Given the description of an element on the screen output the (x, y) to click on. 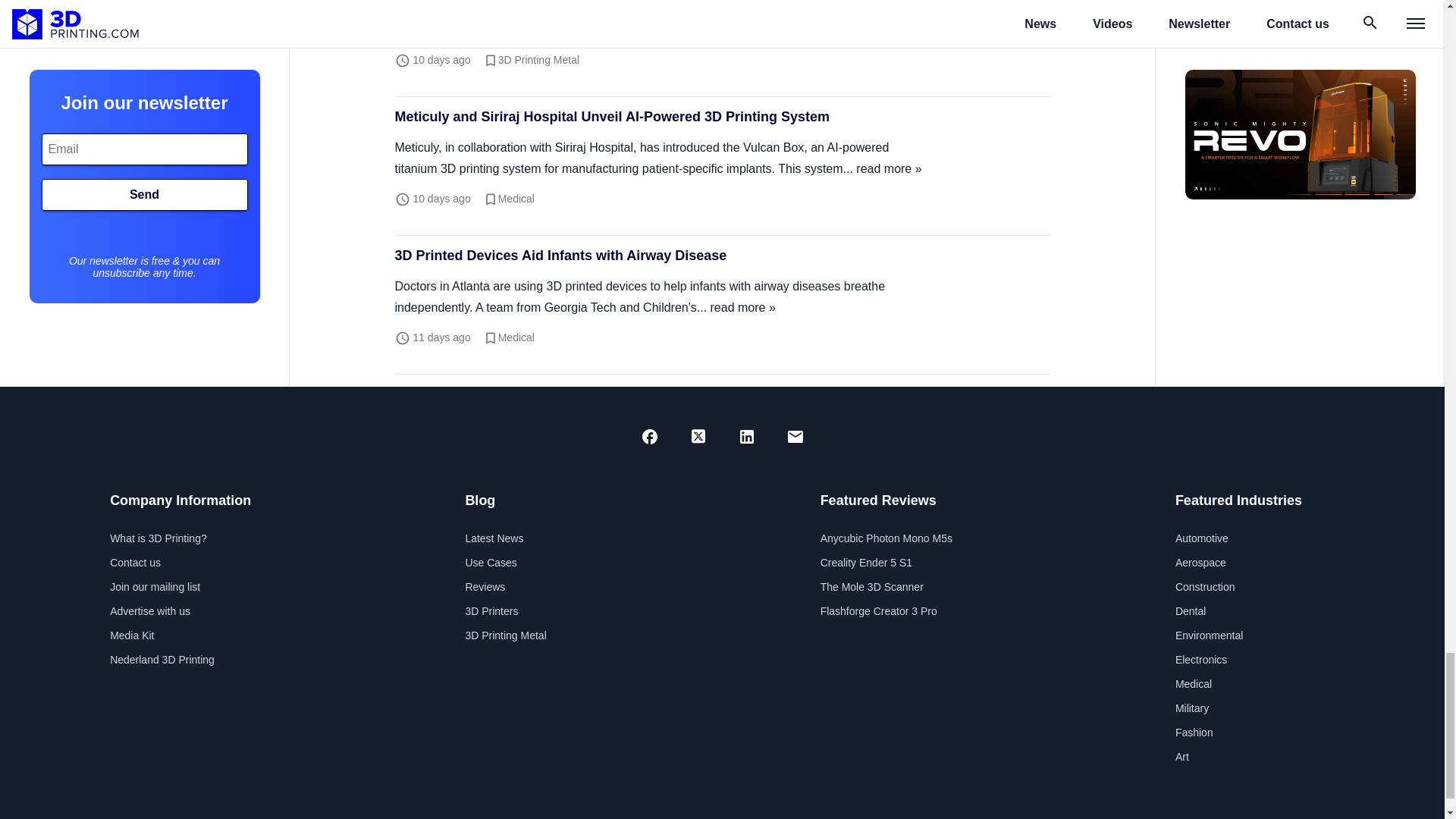
1720612805 (441, 337)
1720713619 (441, 60)
1720710005 (441, 198)
